Given the description of an element on the screen output the (x, y) to click on. 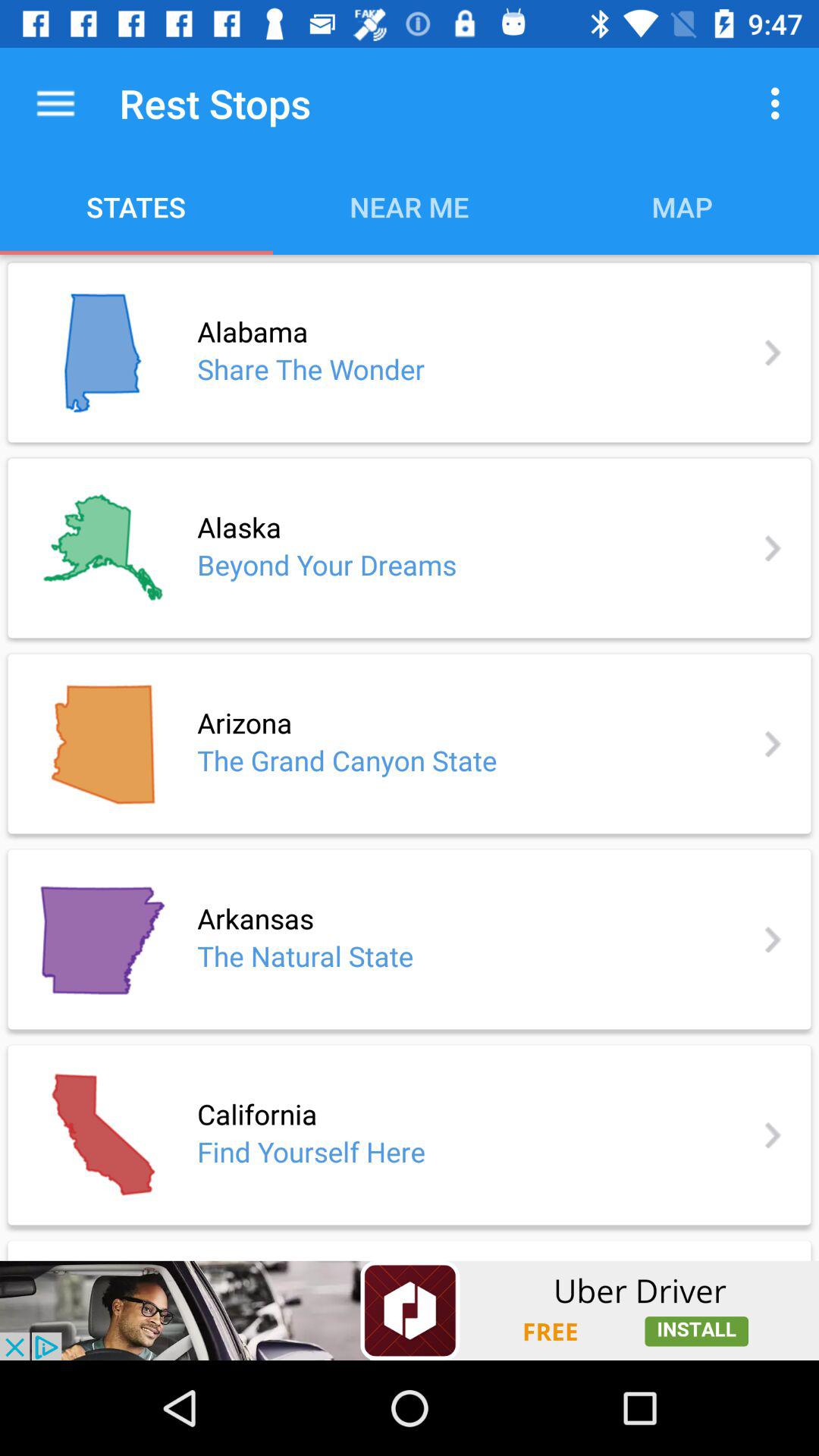
external advertisement uber driver (409, 1310)
